Given the description of an element on the screen output the (x, y) to click on. 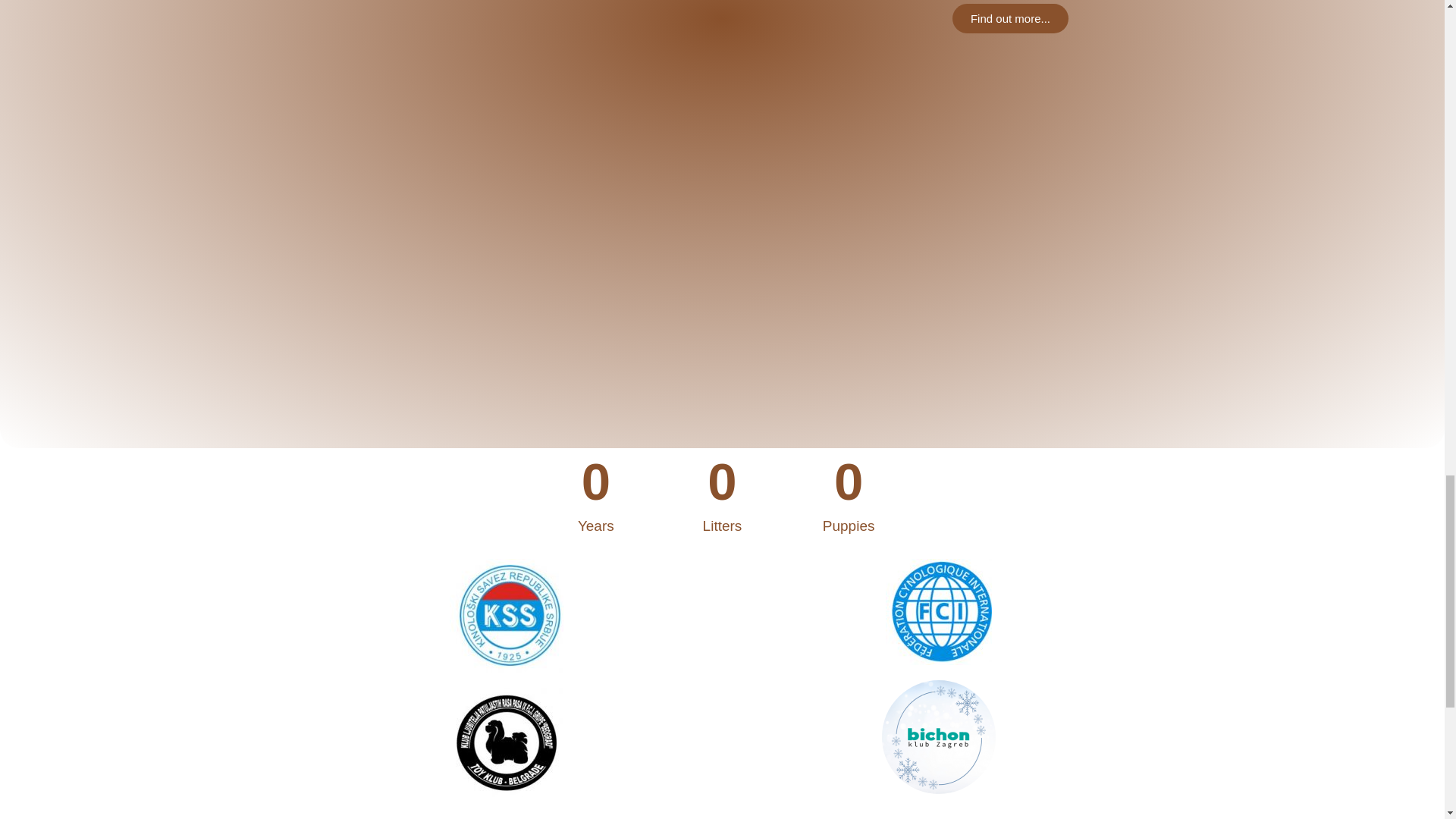
kss (505, 615)
Find out more... (1010, 18)
fci (938, 611)
